Given the description of an element on the screen output the (x, y) to click on. 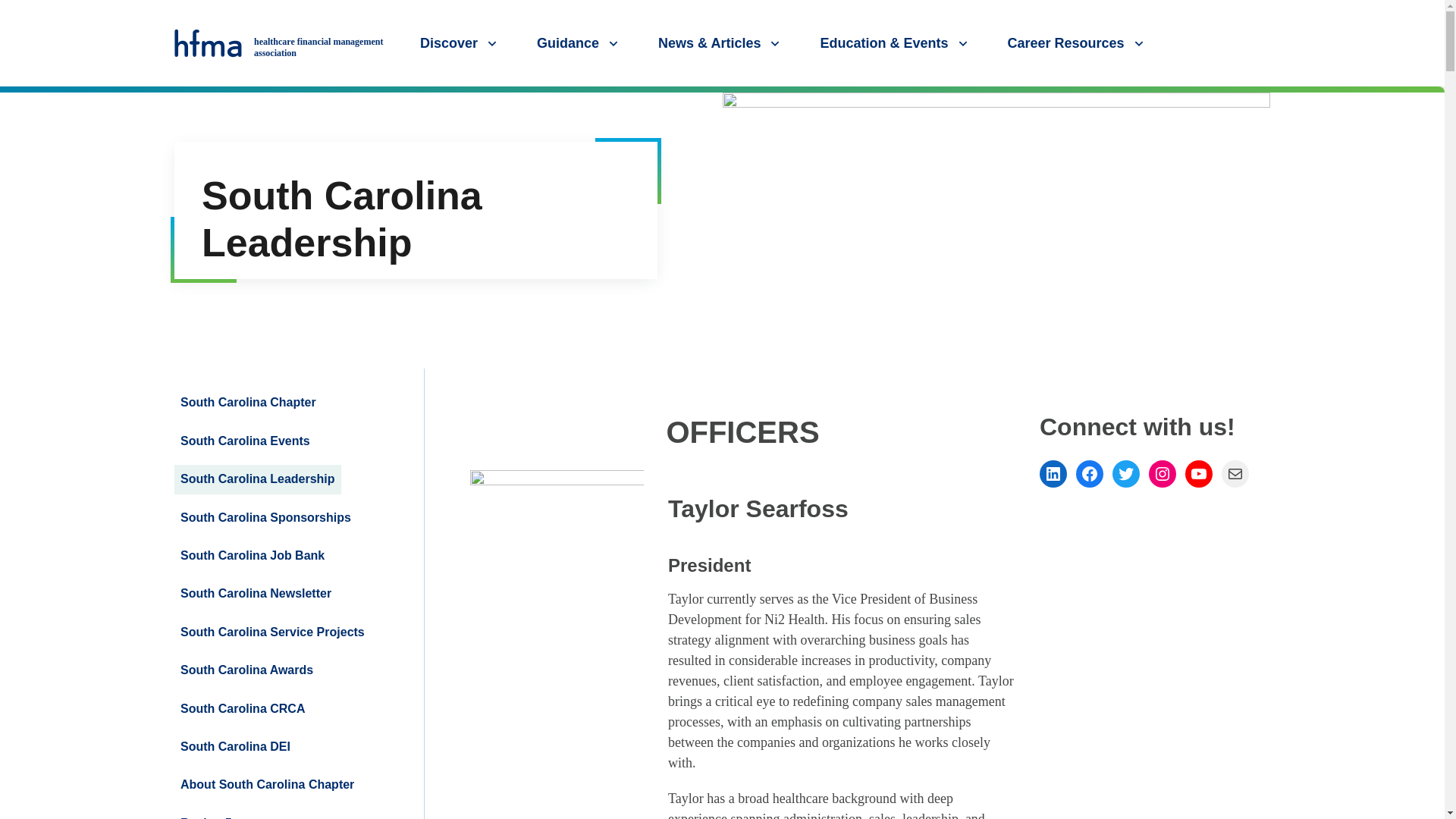
Submit (1427, 101)
Discover (460, 42)
Career Resources (1077, 42)
Guidance (579, 42)
